Given the description of an element on the screen output the (x, y) to click on. 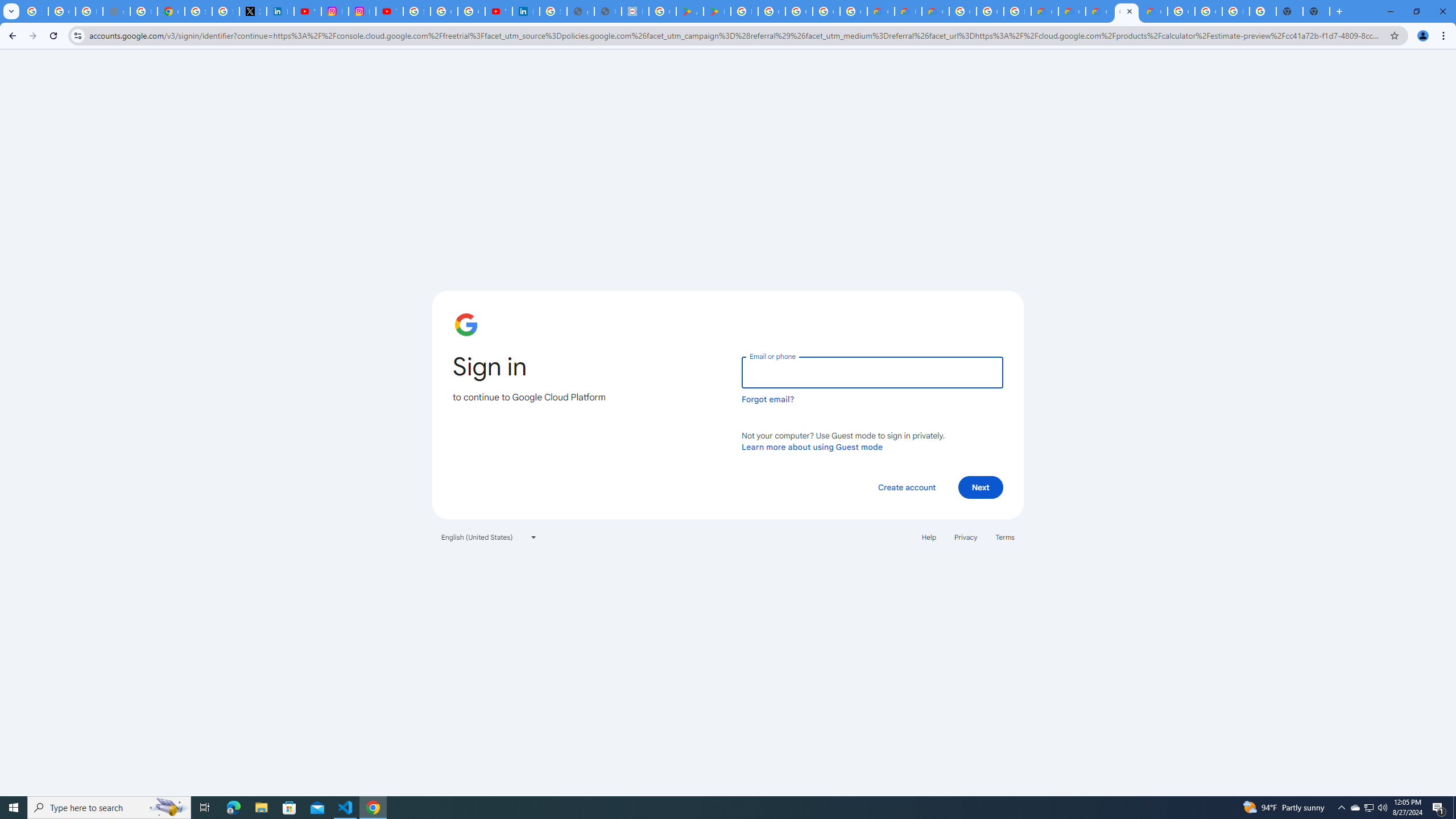
User Details (607, 11)
Create account (905, 486)
Google Cloud Platform (962, 11)
Sign in - Google Accounts (197, 11)
Google Cloud Platform (1180, 11)
Google Cloud Service Health (1153, 11)
Customer Care | Google Cloud (1044, 11)
